Given the description of an element on the screen output the (x, y) to click on. 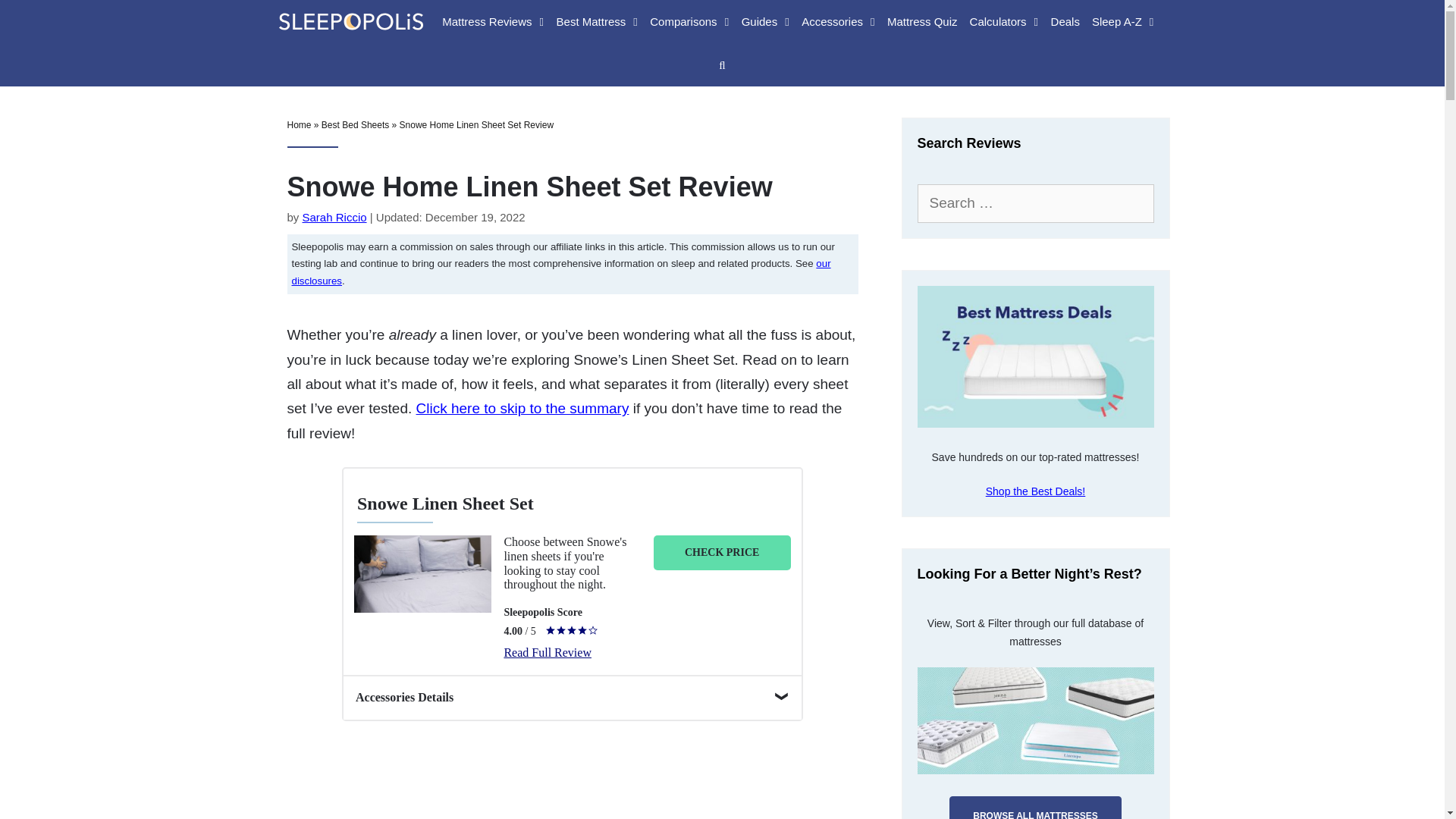
View all posts by Sarah Riccio (334, 216)
Sleepopolis (346, 19)
Read Full Snowe Linen Sheet Set Review (547, 652)
Mattress Reviews (492, 21)
Check Price (721, 552)
